Given the description of an element on the screen output the (x, y) to click on. 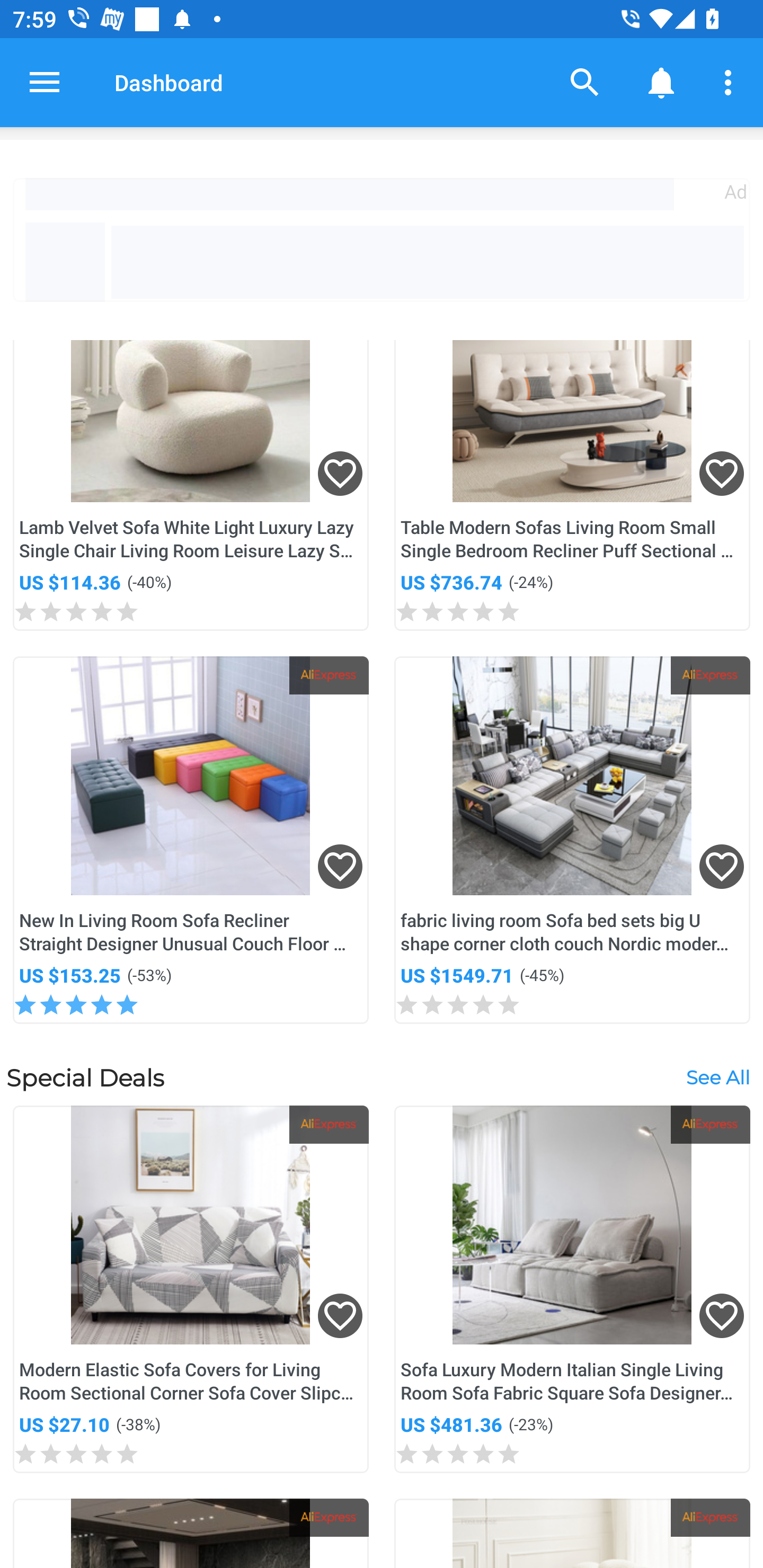
Open navigation drawer (44, 82)
Search (585, 81)
More options (731, 81)
See All (717, 1076)
